Given the description of an element on the screen output the (x, y) to click on. 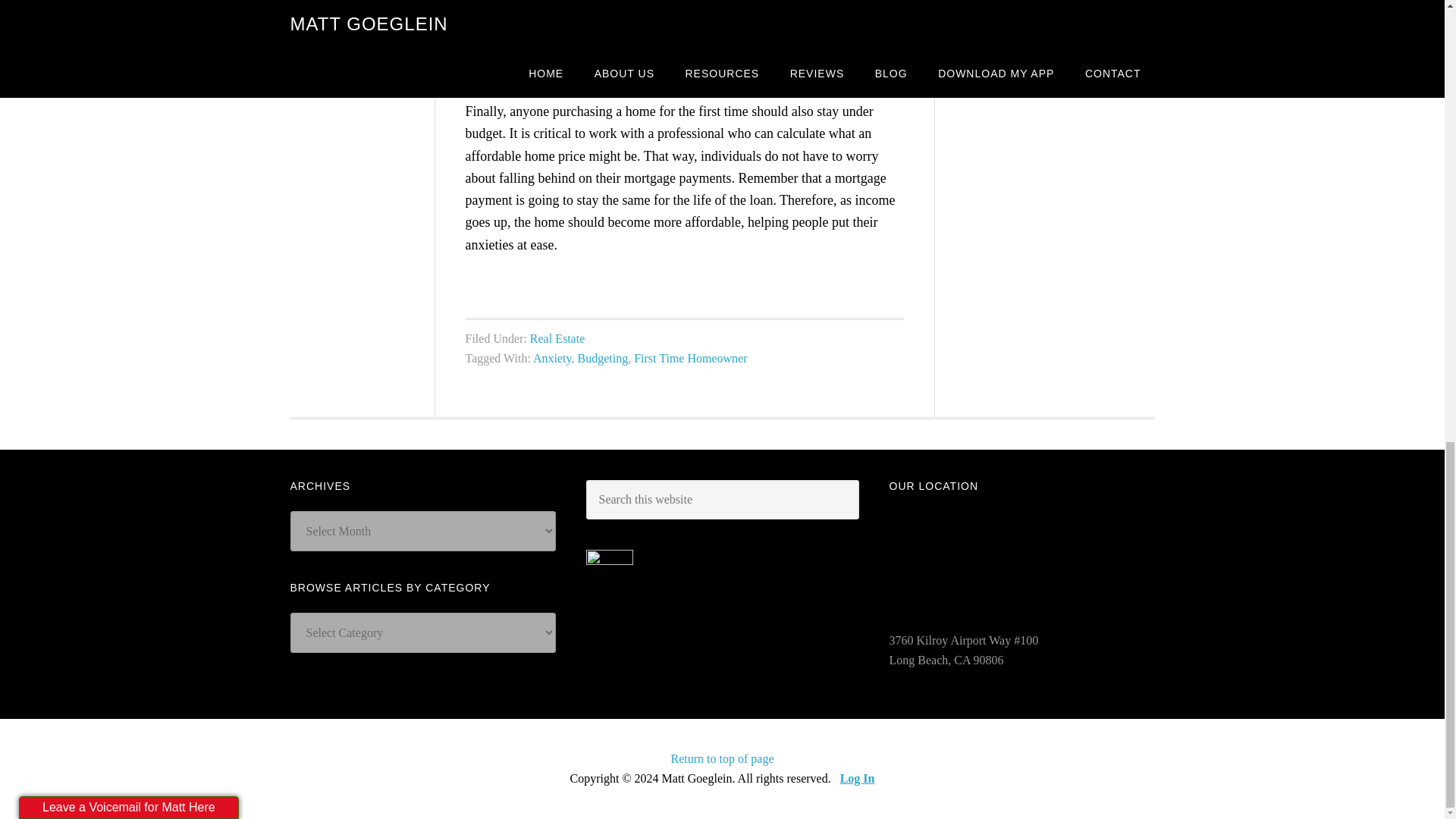
Log In (857, 778)
Return to top of page (722, 758)
Real Estate (557, 338)
First Time Homeowner (689, 358)
Budgeting (603, 358)
Anxiety (552, 358)
